Given the description of an element on the screen output the (x, y) to click on. 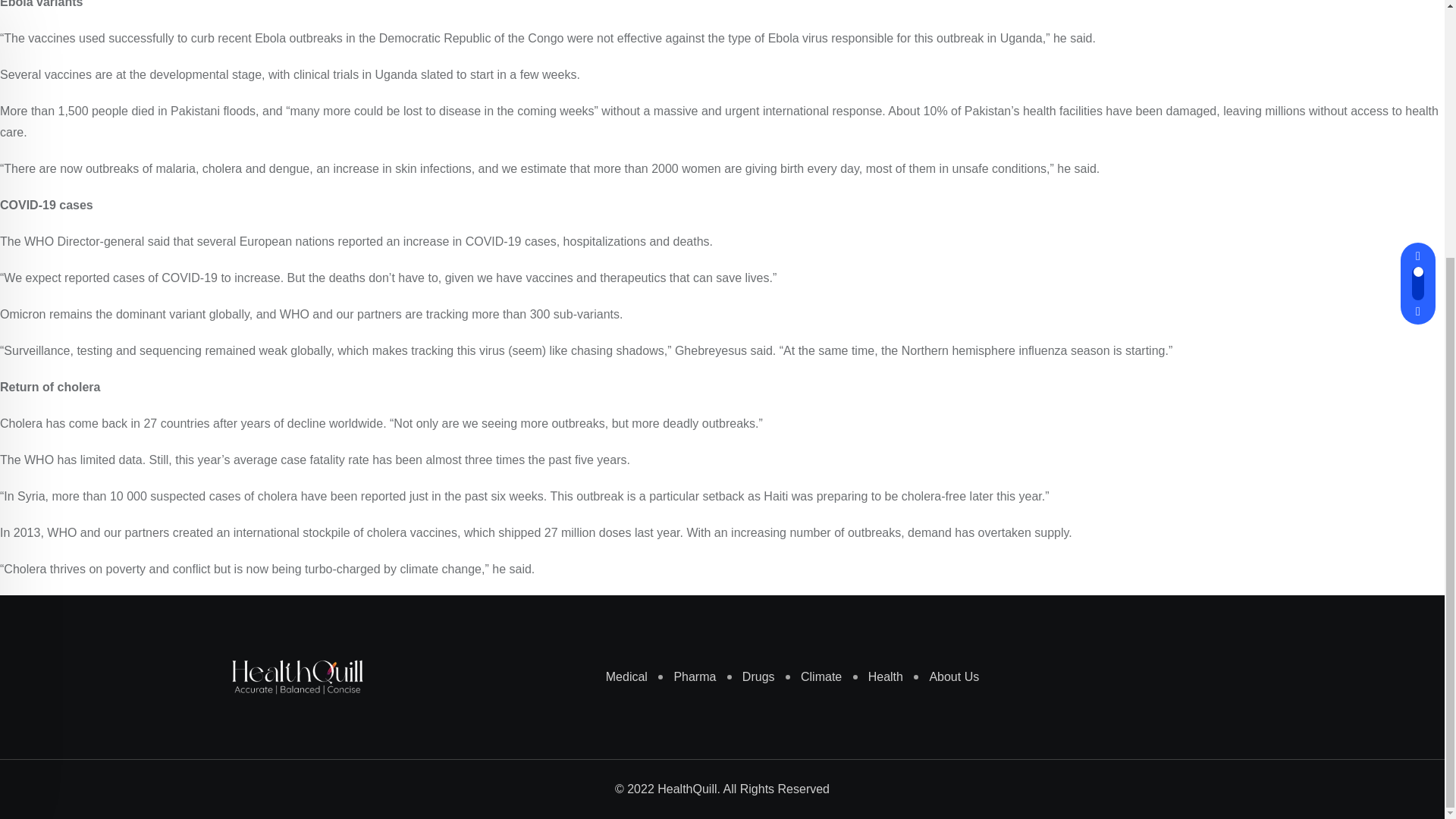
Health (877, 309)
Drugs (750, 309)
Pharma (687, 309)
Climate (813, 309)
Medical (619, 309)
About Us (946, 309)
